Given the description of an element on the screen output the (x, y) to click on. 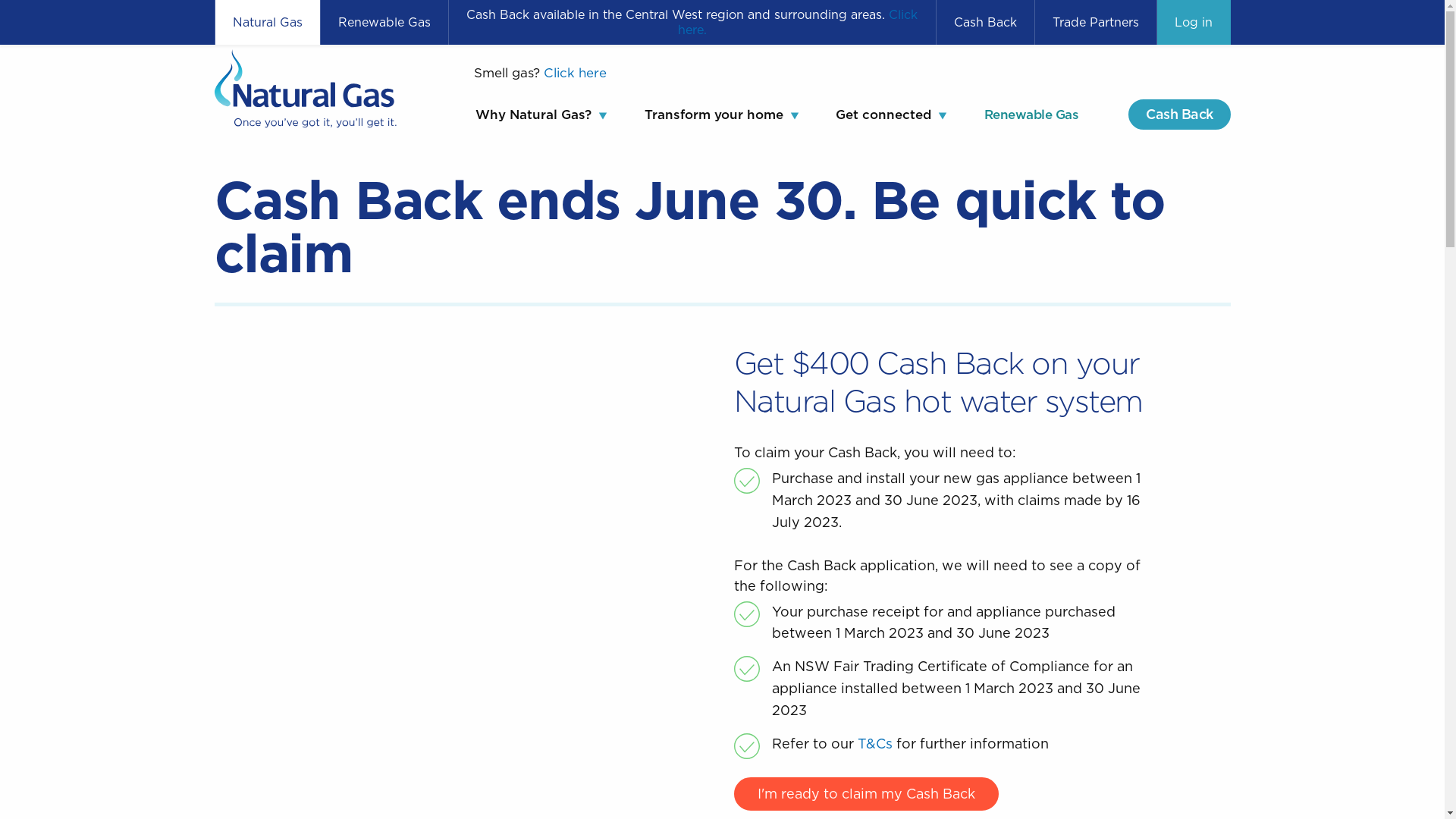
Trade Partners Element type: text (1094, 22)
Cash Back Element type: text (984, 22)
I'm ready to claim my Cash Back Element type: text (866, 793)
Click here. Element type: text (797, 22)
Click here Element type: text (574, 72)
Renewable Gas Element type: text (1031, 114)
Why Natural Gas? Element type: text (534, 114)
T&Cs Element type: text (873, 743)
Cash Back Element type: text (1179, 114)
Transform your home Element type: text (713, 114)
Log in Element type: text (1193, 22)
Get connected Element type: text (883, 114)
Natural Gas Element type: text (267, 22)
Renewable Gas Element type: text (383, 22)
